Given the description of an element on the screen output the (x, y) to click on. 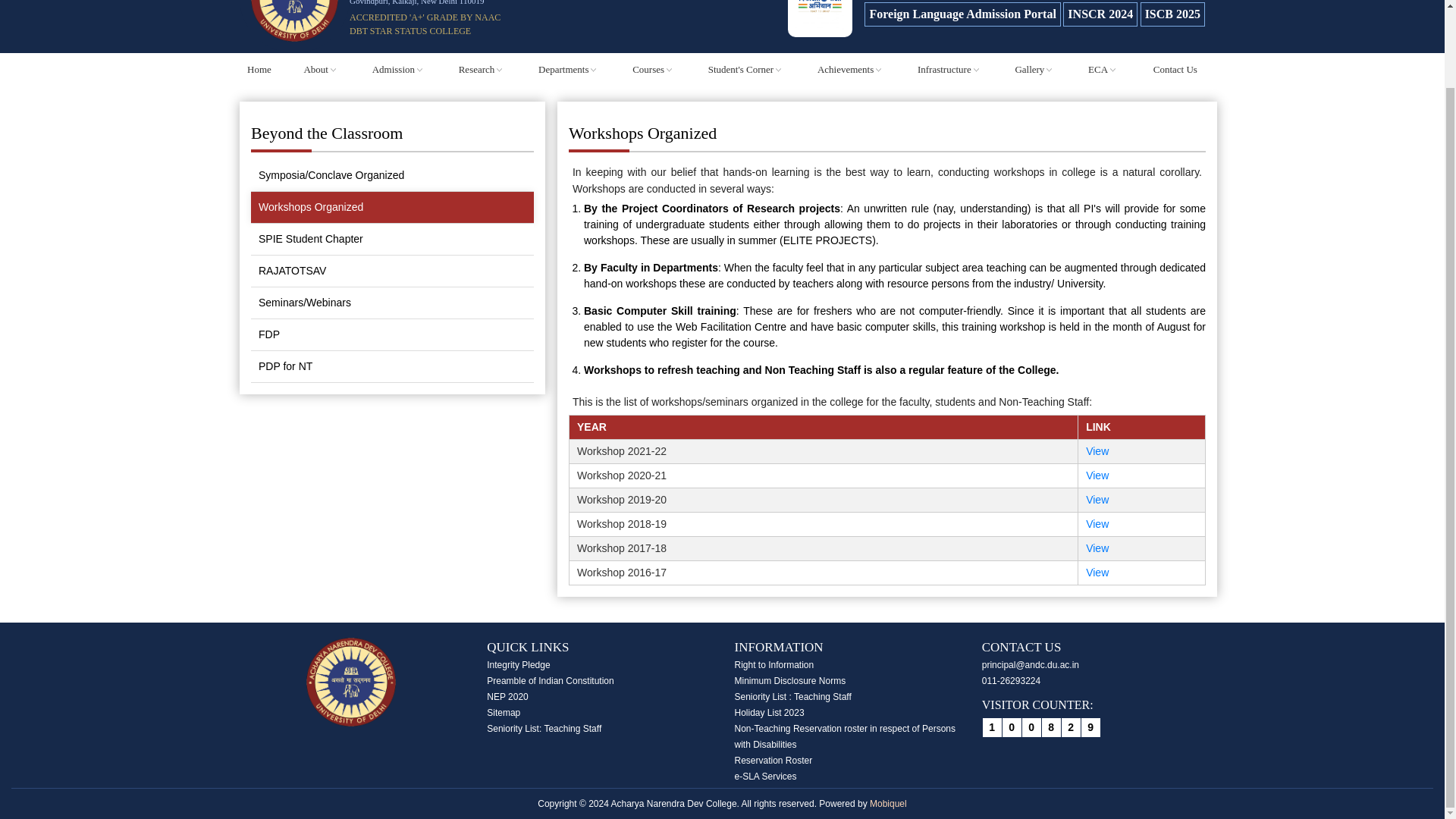
INSCR 2024 (1099, 14)
Foreign Language Admission Portal (961, 14)
ISCB 2025 (1172, 14)
Home (259, 69)
Home (259, 69)
